Given the description of an element on the screen output the (x, y) to click on. 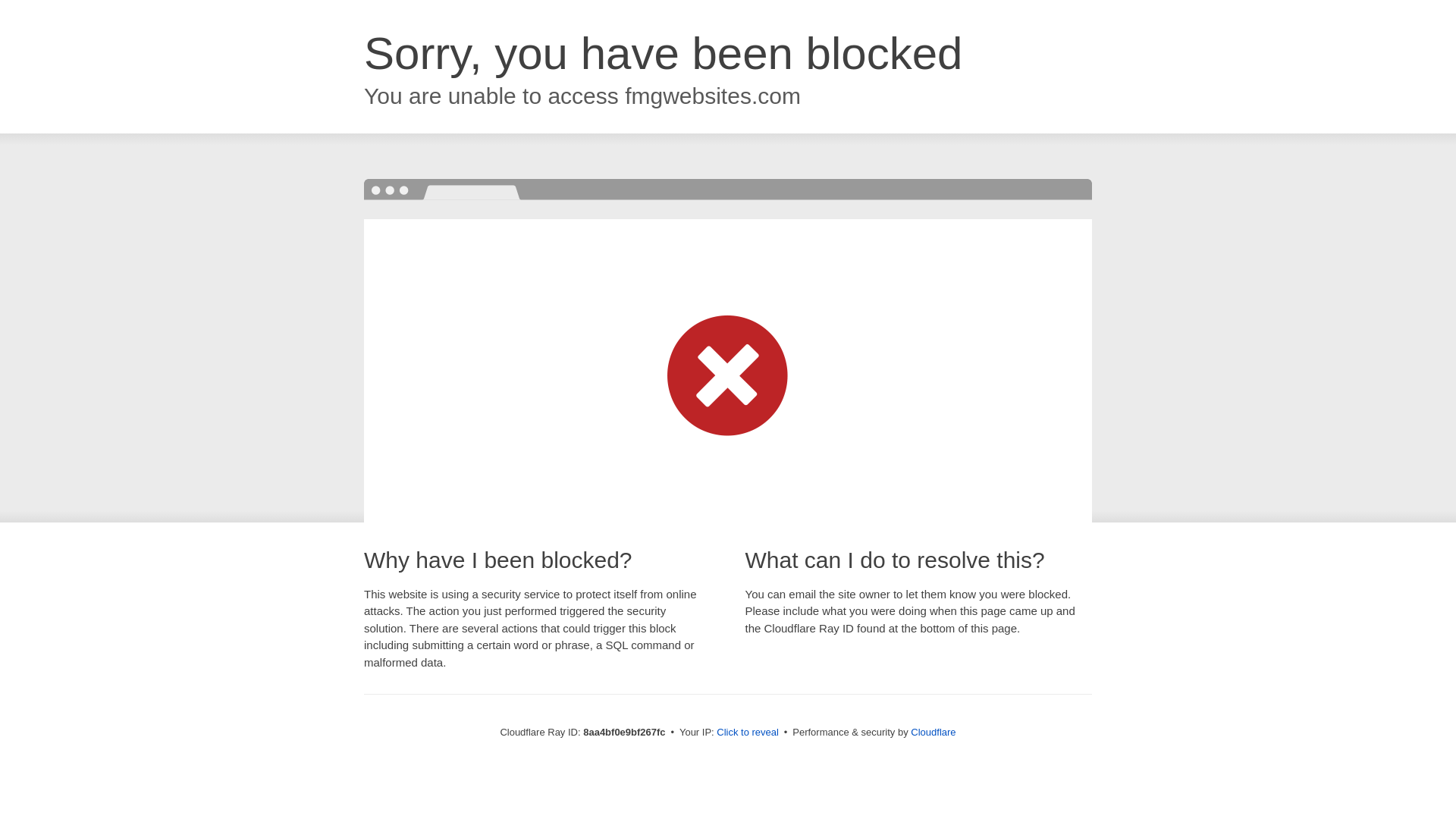
Click to reveal (747, 732)
Cloudflare (933, 731)
